Given the description of an element on the screen output the (x, y) to click on. 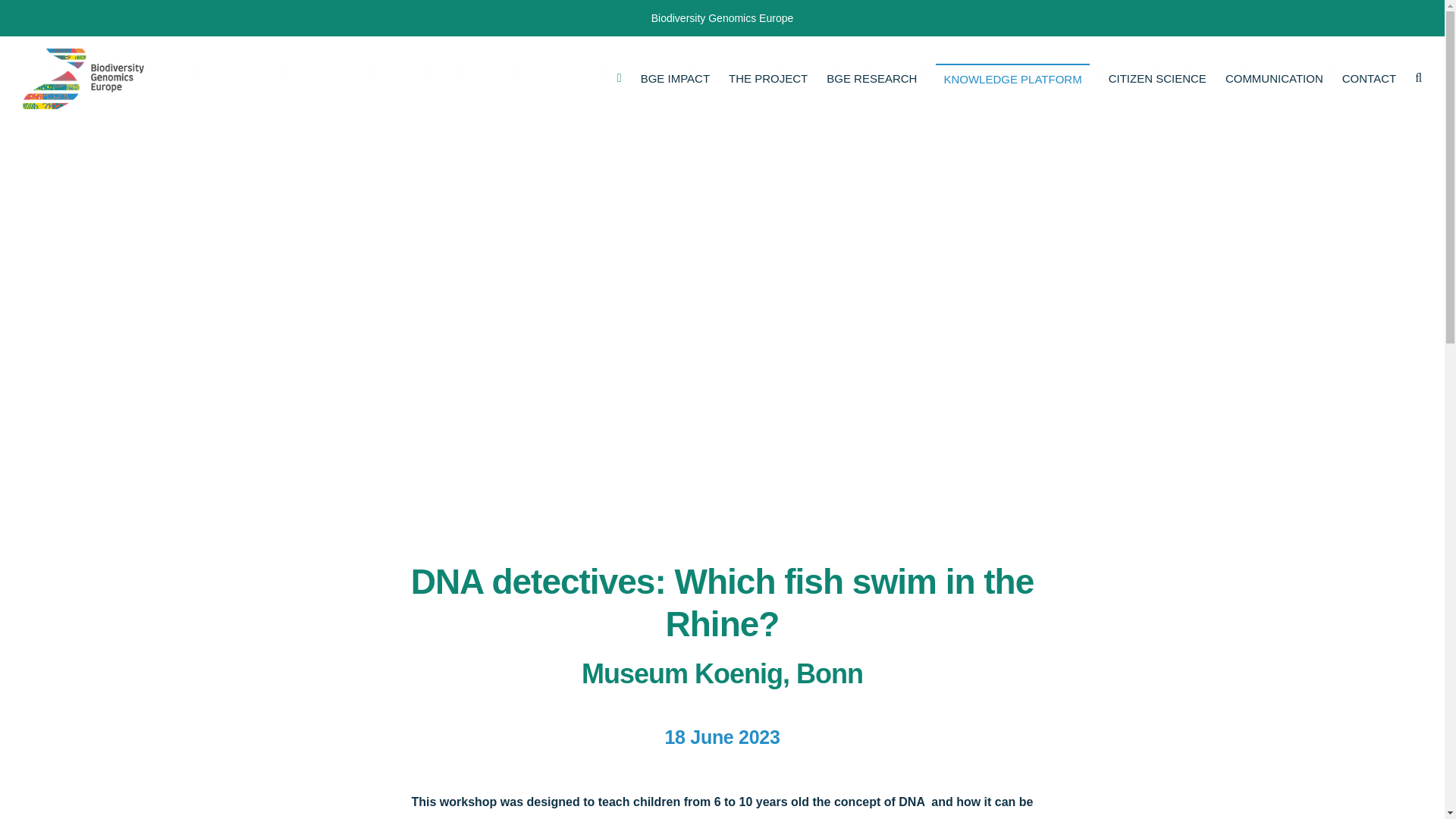
BGE IMPACT (675, 78)
THE PROJECT (768, 78)
CITIZEN SCIENCE (1157, 78)
BGE RESEARCH (872, 78)
KNOWLEDGE PLATFORM (1012, 79)
COMMUNICATION (1274, 78)
